Given the description of an element on the screen output the (x, y) to click on. 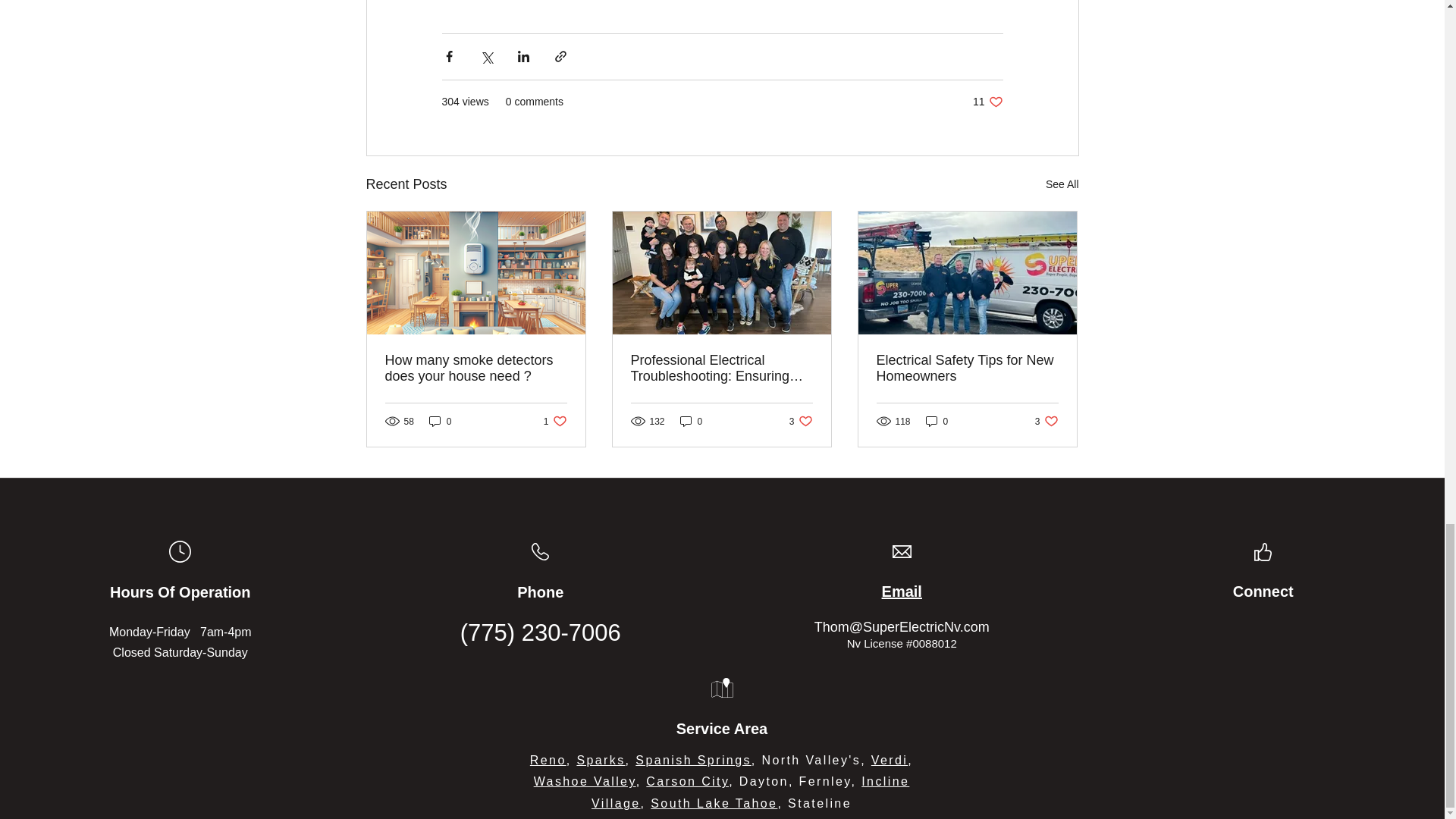
0 (691, 421)
Electrical Safety Tips for New Homeowners (967, 368)
Email (555, 421)
Phone (901, 590)
See All (539, 591)
0 (1061, 183)
